Given the description of an element on the screen output the (x, y) to click on. 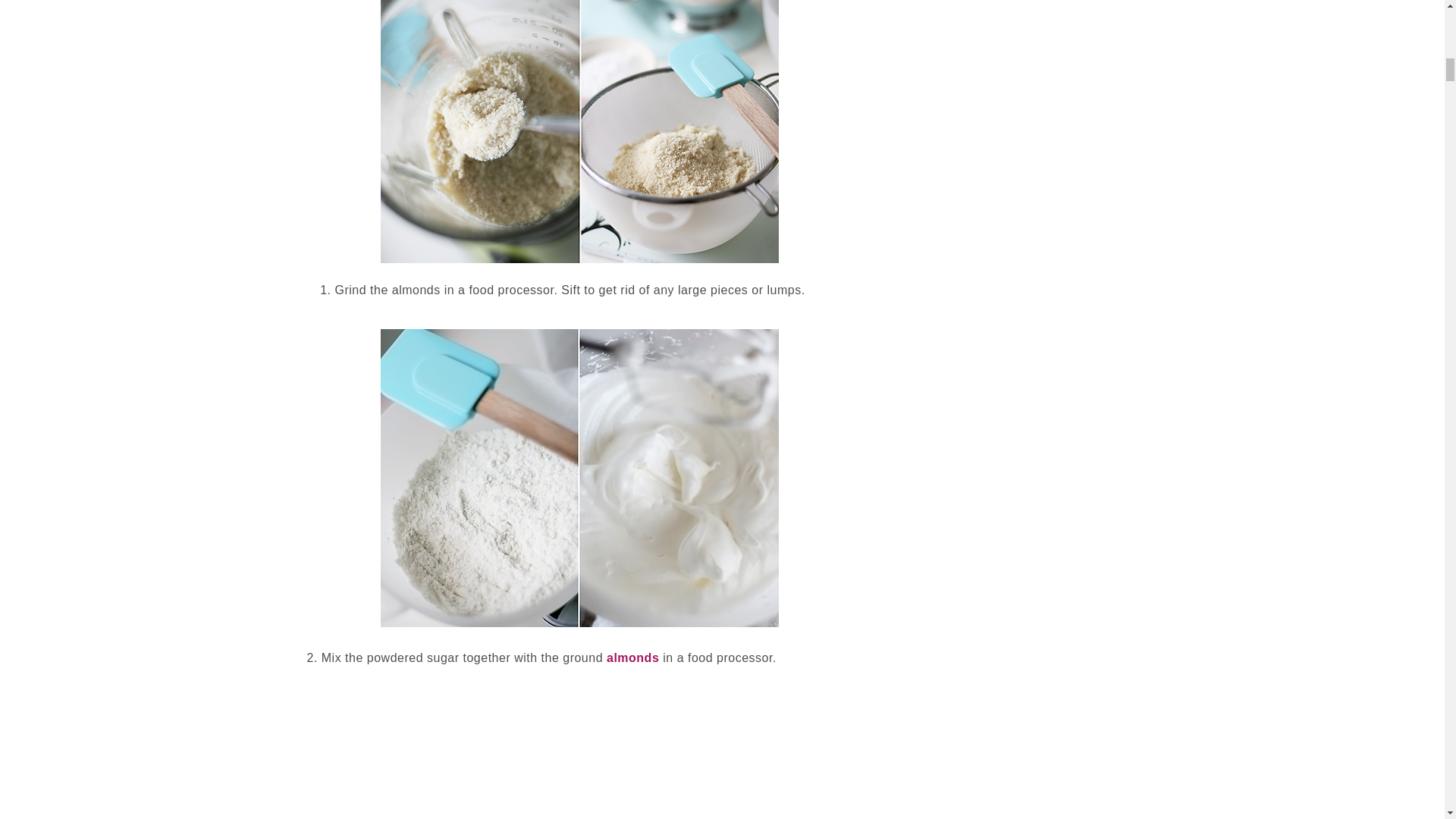
3 (579, 478)
2 (579, 131)
